Given the description of an element on the screen output the (x, y) to click on. 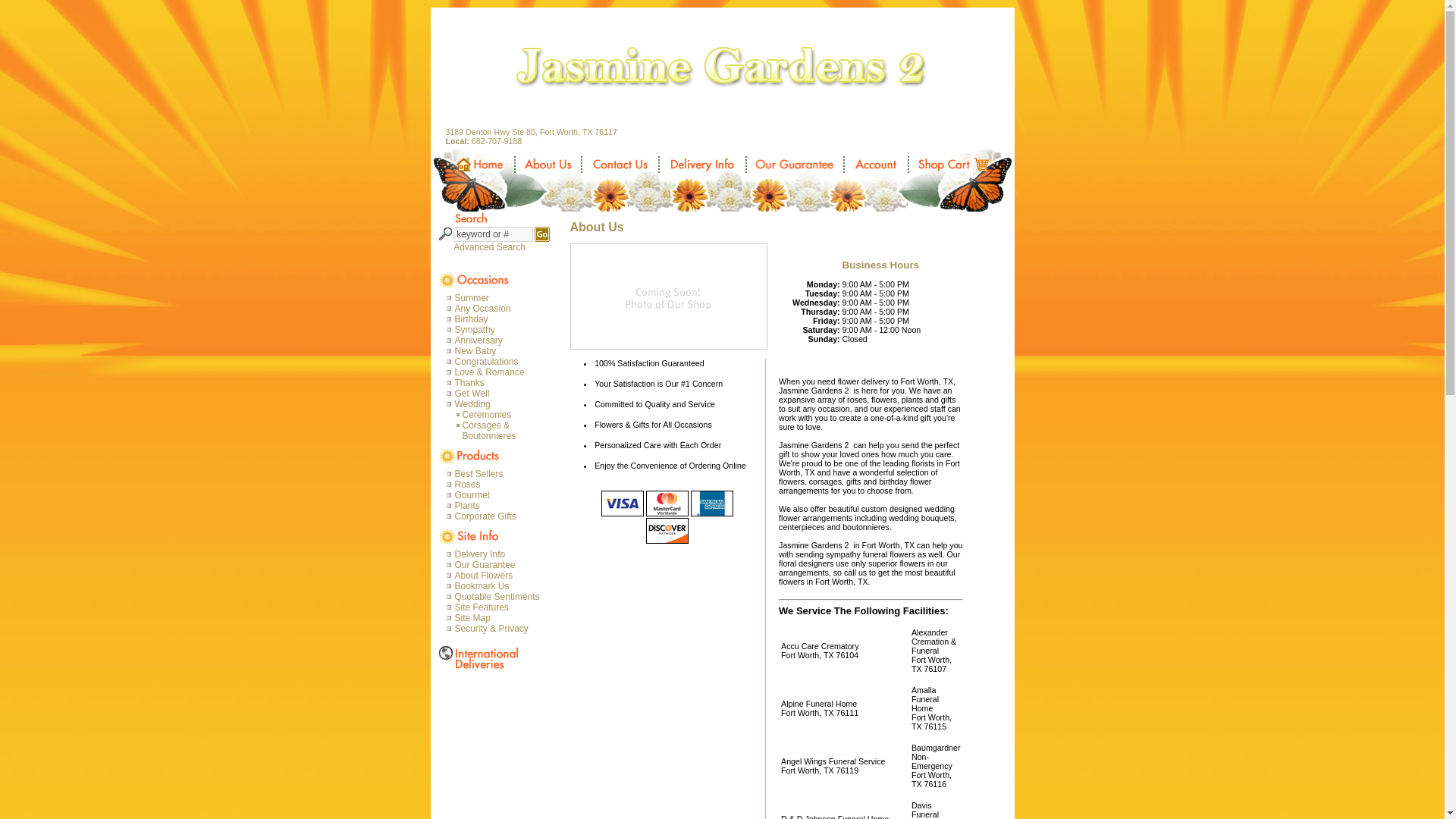
Sympathy (500, 329)
Congratulations (500, 361)
Summer (500, 297)
Ceremonies (508, 414)
Plants (500, 505)
Site Features (500, 606)
Bookmark Us (500, 585)
Gourmet (500, 494)
Best Sellers (500, 473)
Quotable Sentiments (500, 596)
Thanks (500, 382)
Advanced Search (490, 246)
Corporate Gifts (500, 516)
Our Guarantee (500, 564)
Get Well (500, 393)
